Given the description of an element on the screen output the (x, y) to click on. 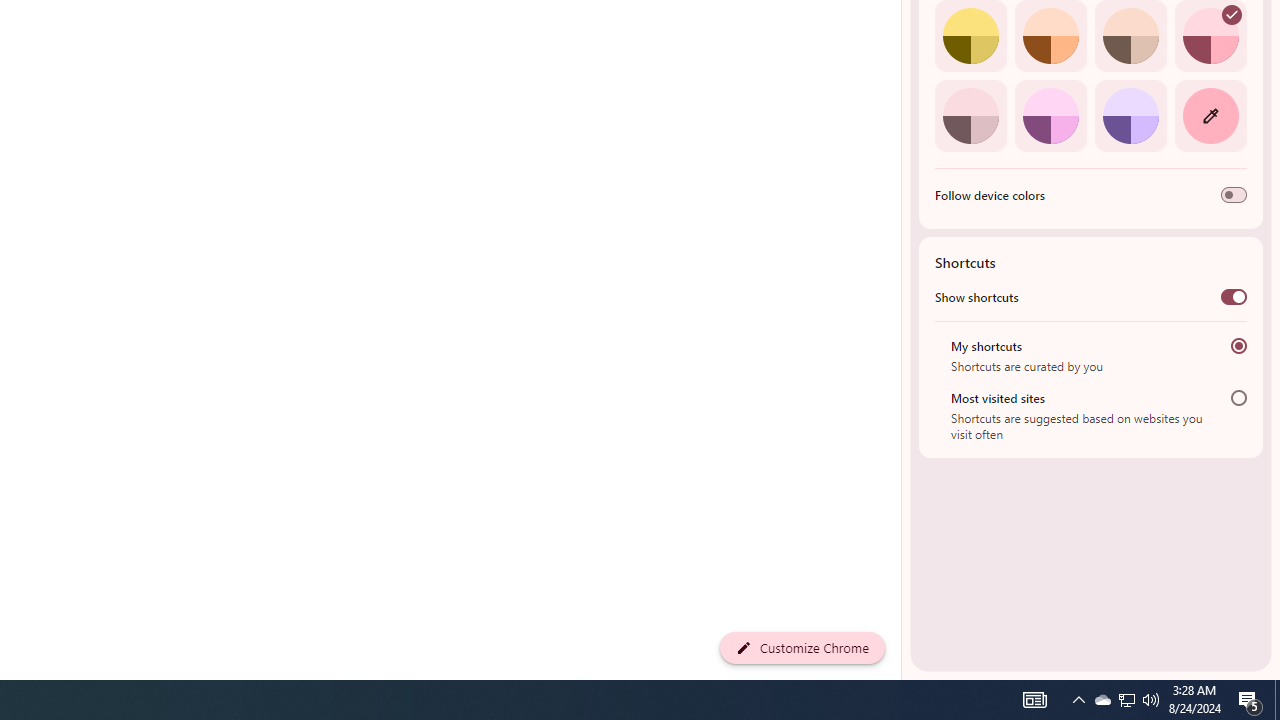
Fuchsia (1050, 115)
